Given the description of an element on the screen output the (x, y) to click on. 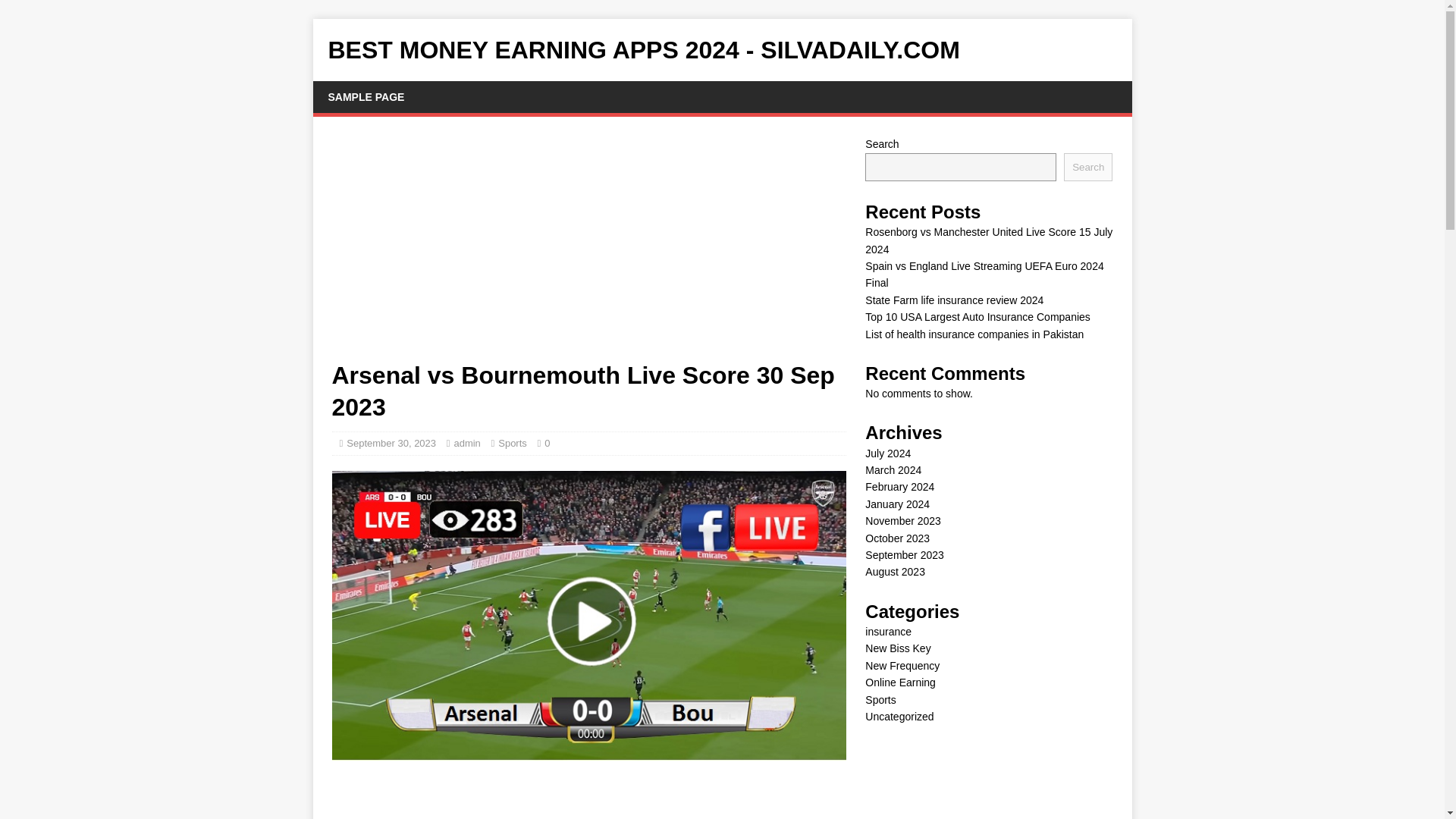
New Frequency (901, 665)
Rosenborg vs Manchester United Live Score 15 July 2024 (988, 240)
February 2024 (899, 486)
Search (1088, 166)
BEST MONEY EARNING APPS 2024 - SILVADAILY.COM (721, 49)
September 30, 2023 (390, 442)
admin (466, 442)
Sports (512, 442)
New Biss Key (897, 648)
Uncategorized (898, 716)
October 2023 (897, 538)
Best Money Earning Apps 2024 - SilvaDaily.Com (721, 49)
Top 10 USA Largest Auto Insurance Companies (977, 316)
July 2024 (887, 453)
State Farm life insurance review 2024 (953, 300)
